Given the description of an element on the screen output the (x, y) to click on. 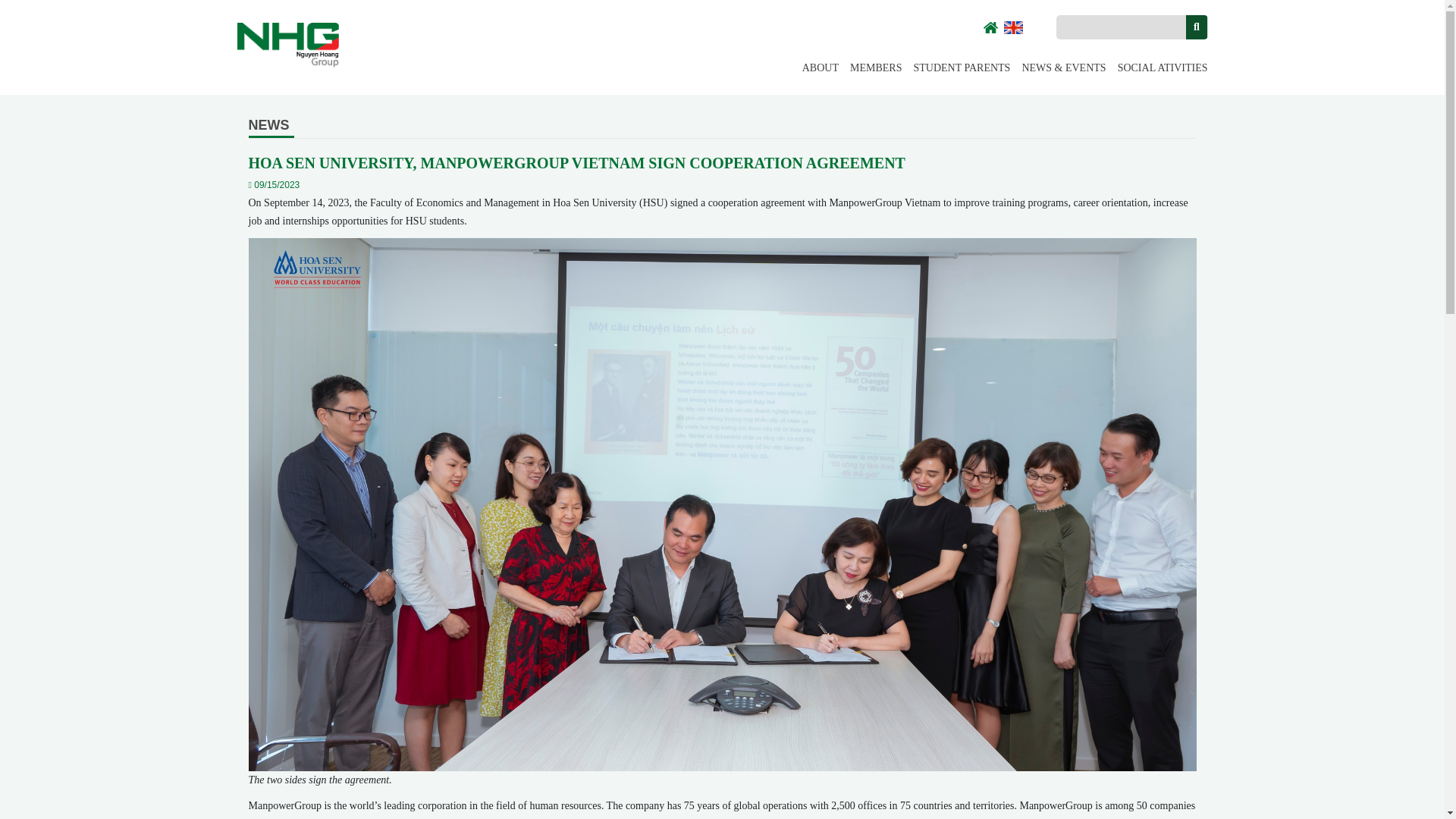
SOCIAL ATIVITIES (1163, 68)
English (1020, 34)
Go (1196, 26)
MEMBERS (875, 68)
Home (286, 43)
ABOUT (820, 68)
Enter the terms you wish to search for. (1118, 27)
Vietnamese (1055, 34)
STUDENT PARENTS (961, 68)
